Given the description of an element on the screen output the (x, y) to click on. 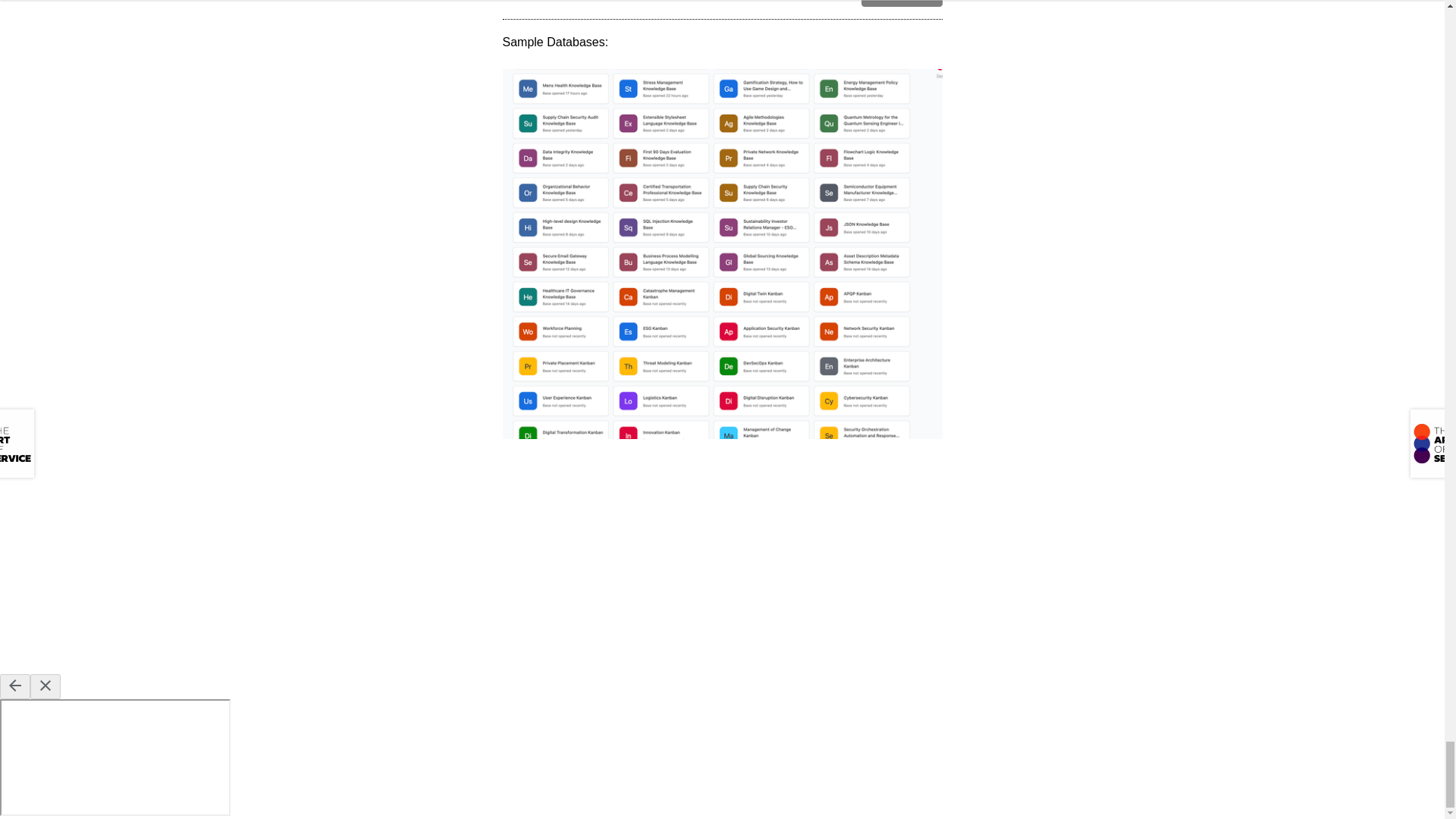
Subscribe (901, 3)
